Given the description of an element on the screen output the (x, y) to click on. 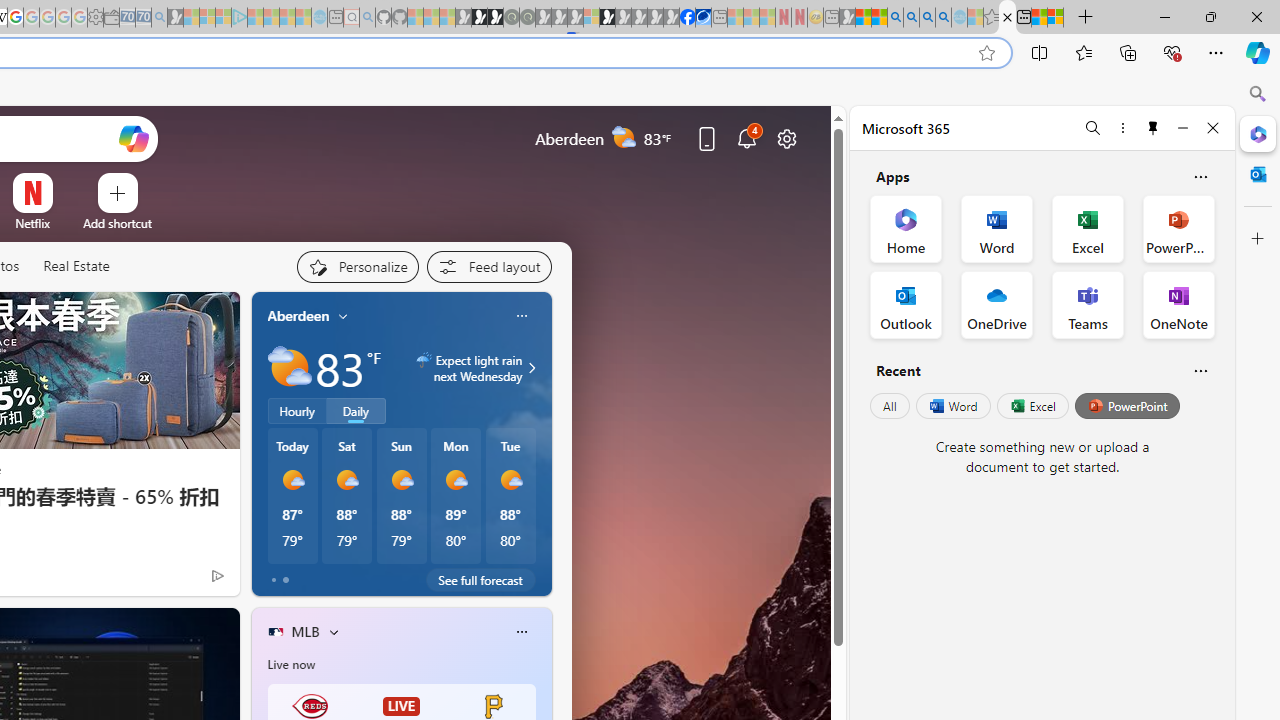
tab-0 (273, 579)
PowerPoint (1127, 406)
Add a site (117, 223)
Word Office App (996, 228)
Settings - Sleeping (95, 17)
tab-1 (285, 579)
Partly sunny (289, 368)
Partly sunny (289, 368)
